Given the description of an element on the screen output the (x, y) to click on. 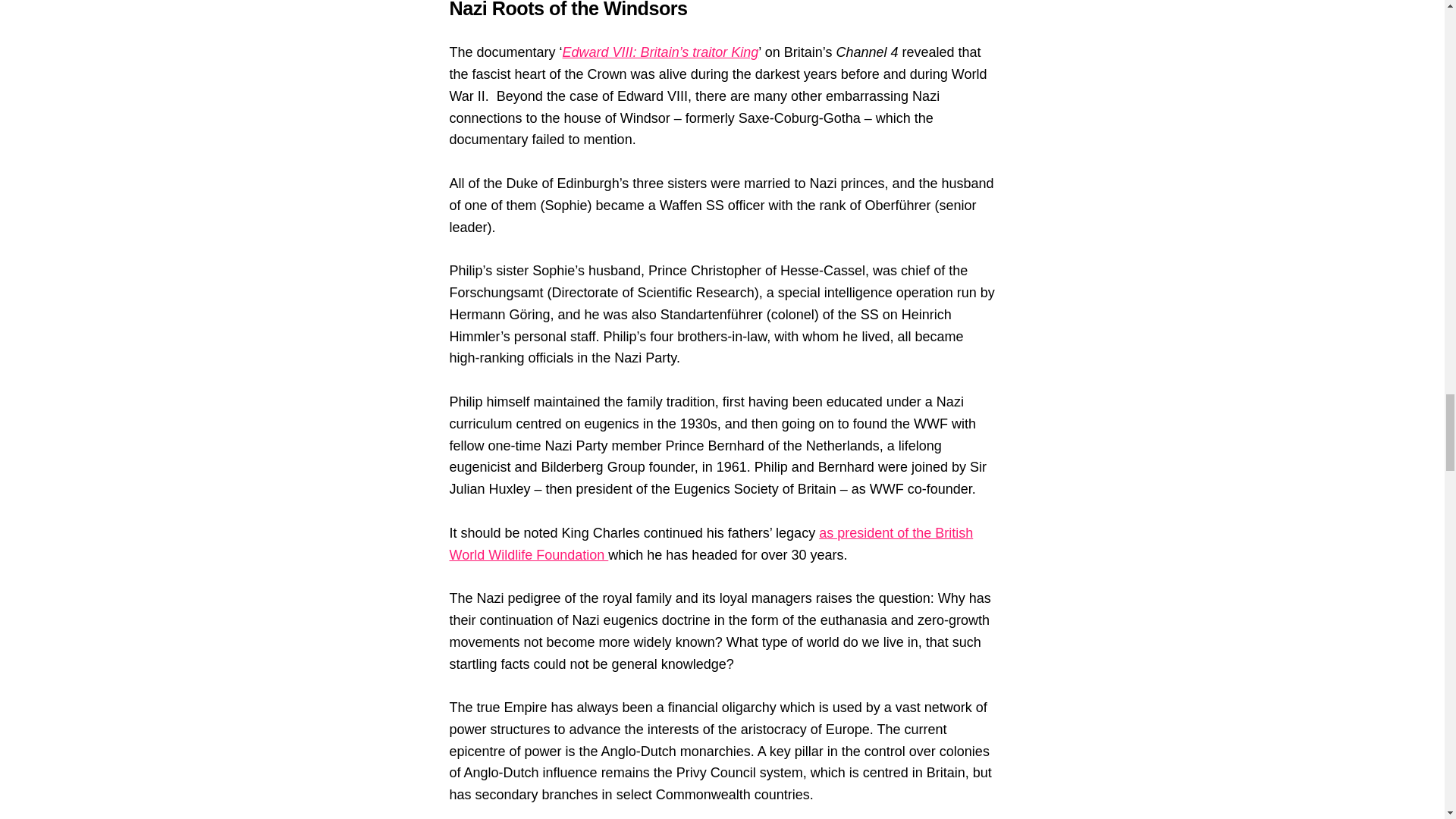
as president of the British World Wildlife Foundation  (710, 543)
